Given the description of an element on the screen output the (x, y) to click on. 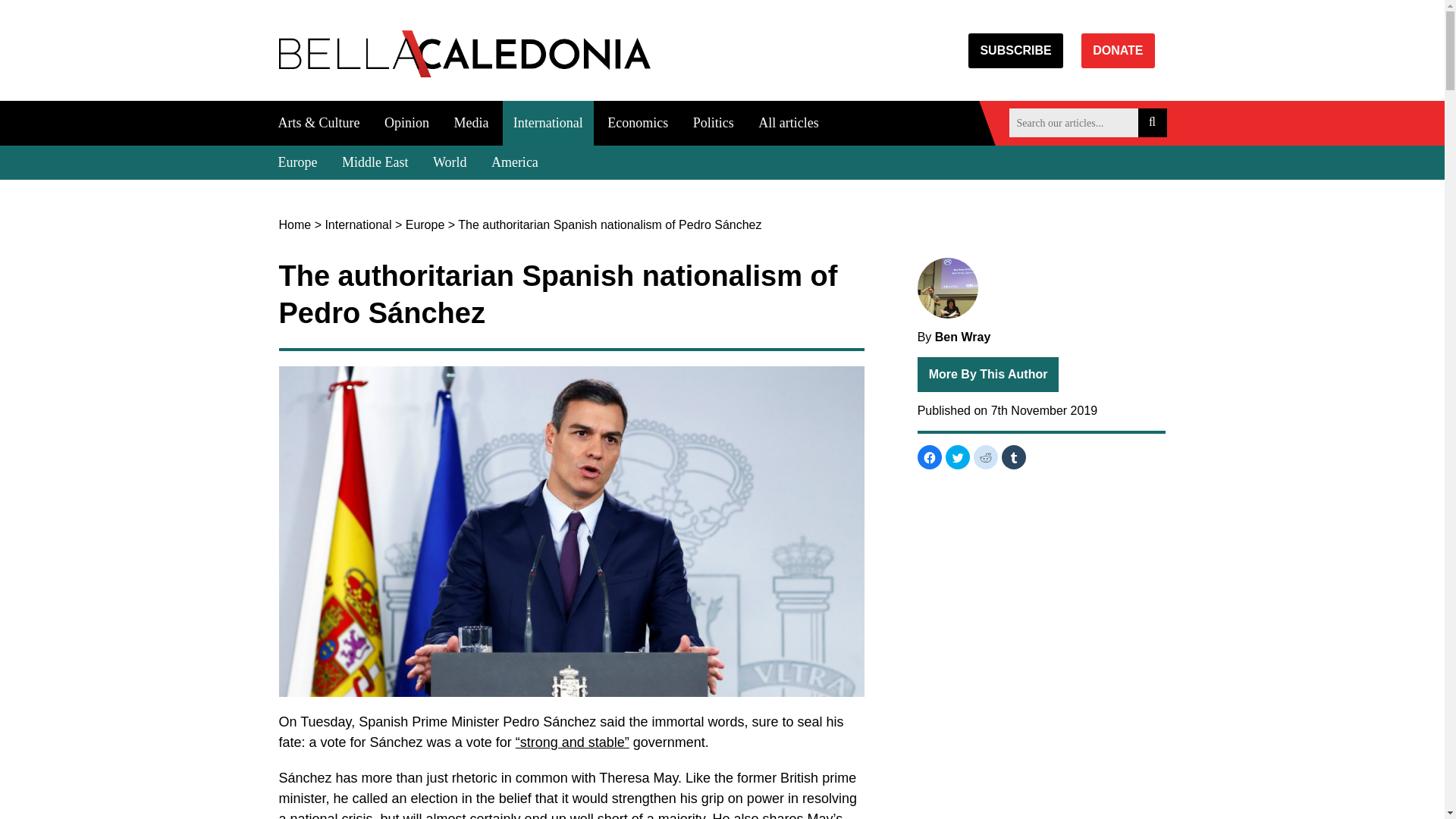
World (449, 162)
Go to Bella Caledonia. (295, 224)
Politics (713, 122)
Click to share on Twitter (956, 457)
DONATE (1117, 50)
Middle East (375, 162)
International (357, 224)
Economics (637, 122)
Click to share on Reddit (985, 457)
Go to the International category archives. (357, 224)
Click to share on Facebook (929, 457)
Media (470, 122)
Europe (425, 224)
All articles (788, 122)
America (514, 162)
